Given the description of an element on the screen output the (x, y) to click on. 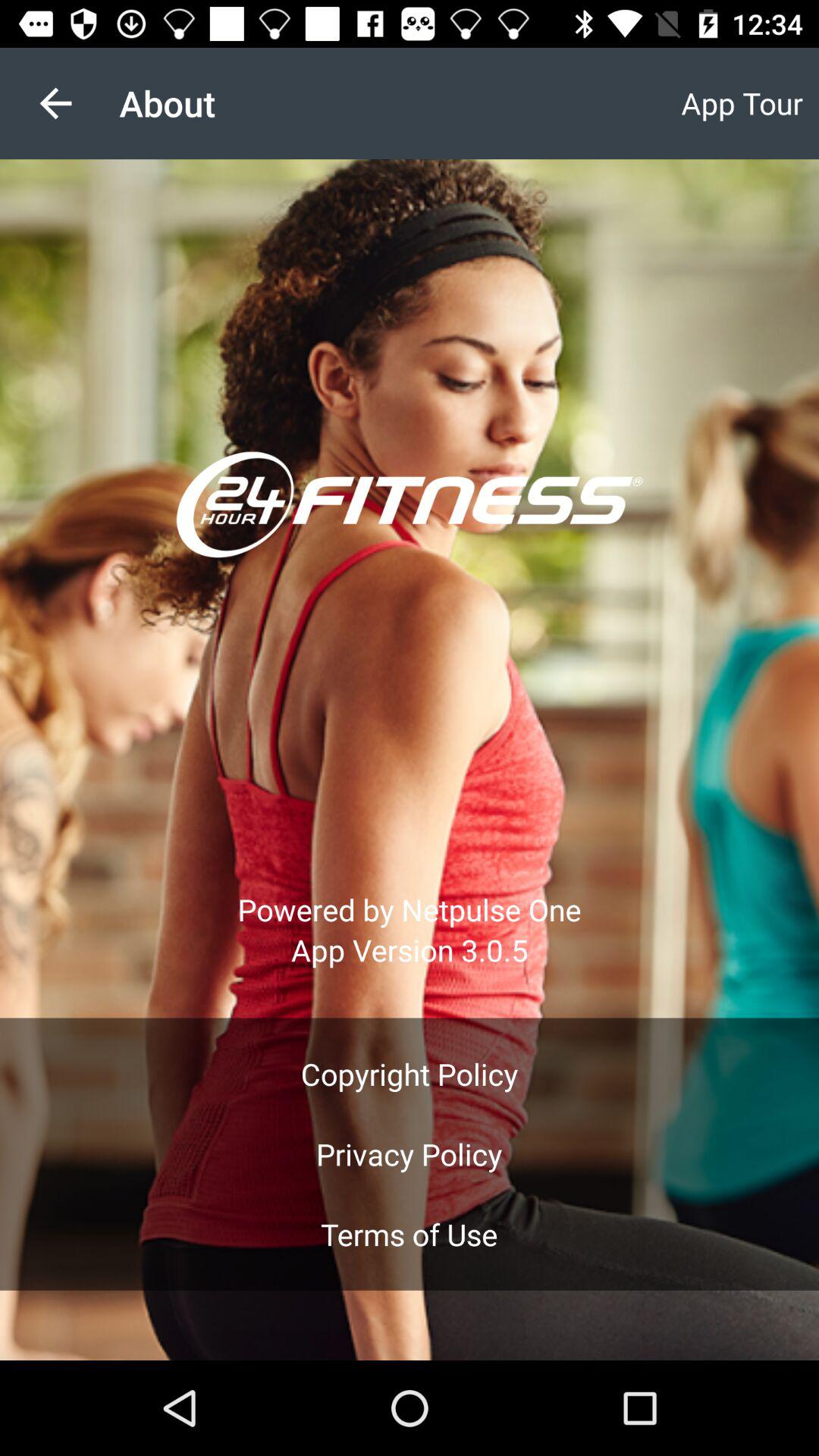
scroll to copyright policy item (409, 1073)
